Given the description of an element on the screen output the (x, y) to click on. 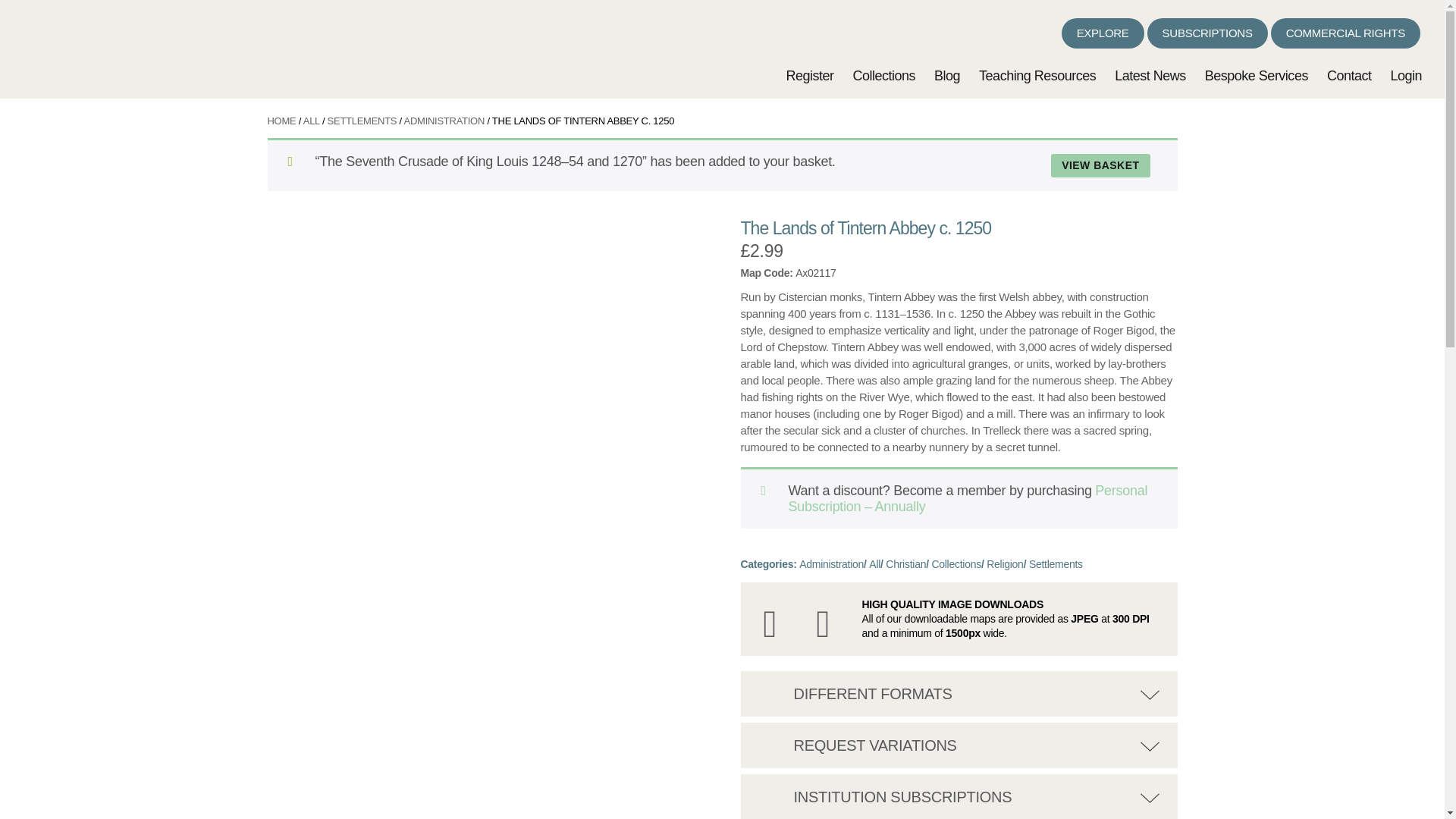
Latest News (1150, 76)
Different Formats (774, 689)
Institution Subscriptions (774, 792)
SETTLEMENTS (362, 120)
Contact (1348, 76)
Christian (905, 563)
Register (809, 76)
Collections (956, 563)
Blog (946, 76)
Teaching Resources (1037, 76)
Collections (883, 76)
Login (1406, 76)
EXPLORE (1102, 33)
ADMINISTRATION (444, 120)
All (874, 563)
